Given the description of an element on the screen output the (x, y) to click on. 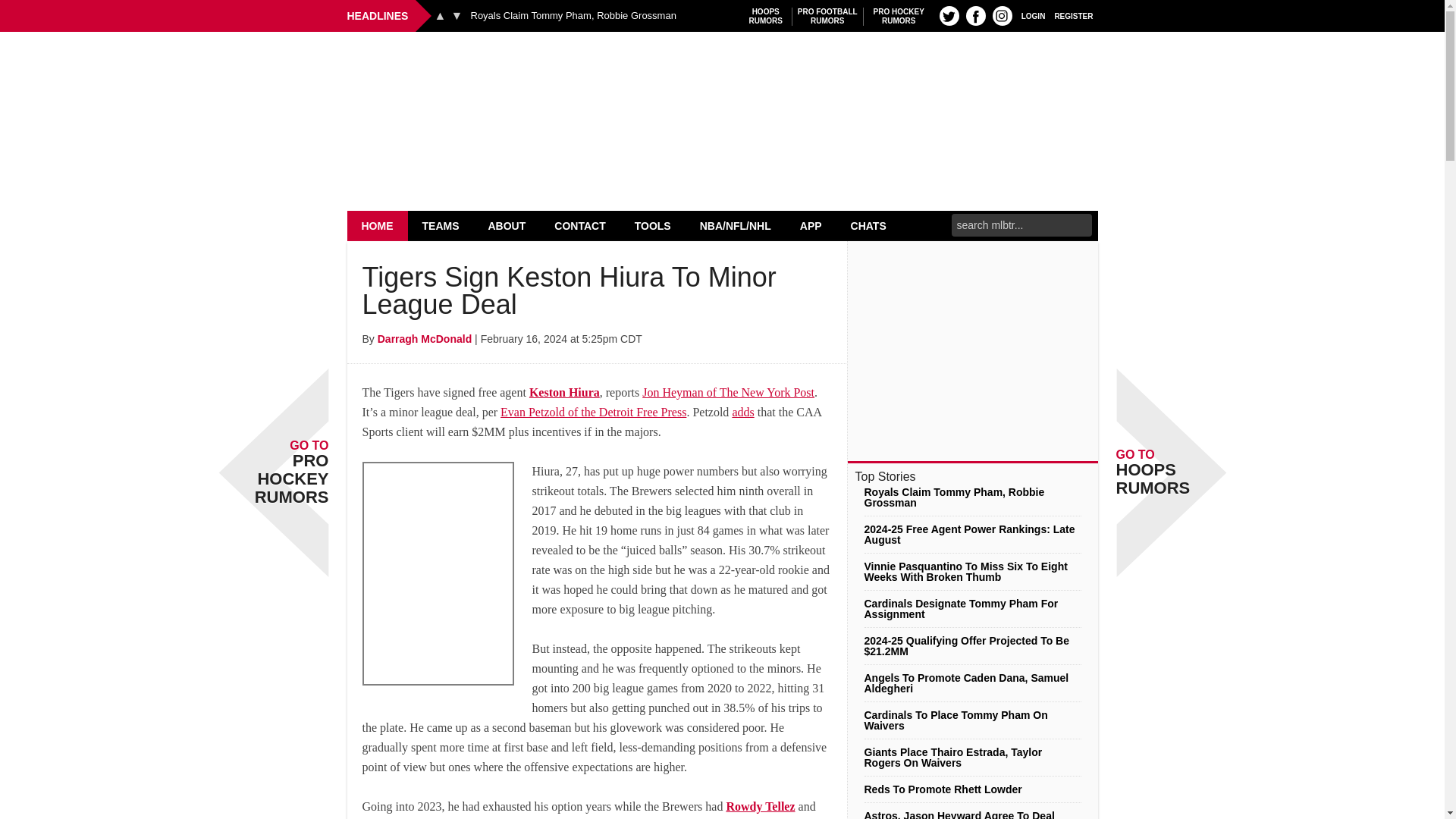
Instagram profile (898, 16)
LOGIN (1001, 15)
Search (1032, 15)
REGISTER (975, 15)
Twitter profile (1073, 15)
Next (949, 15)
HOME (456, 15)
